Given the description of an element on the screen output the (x, y) to click on. 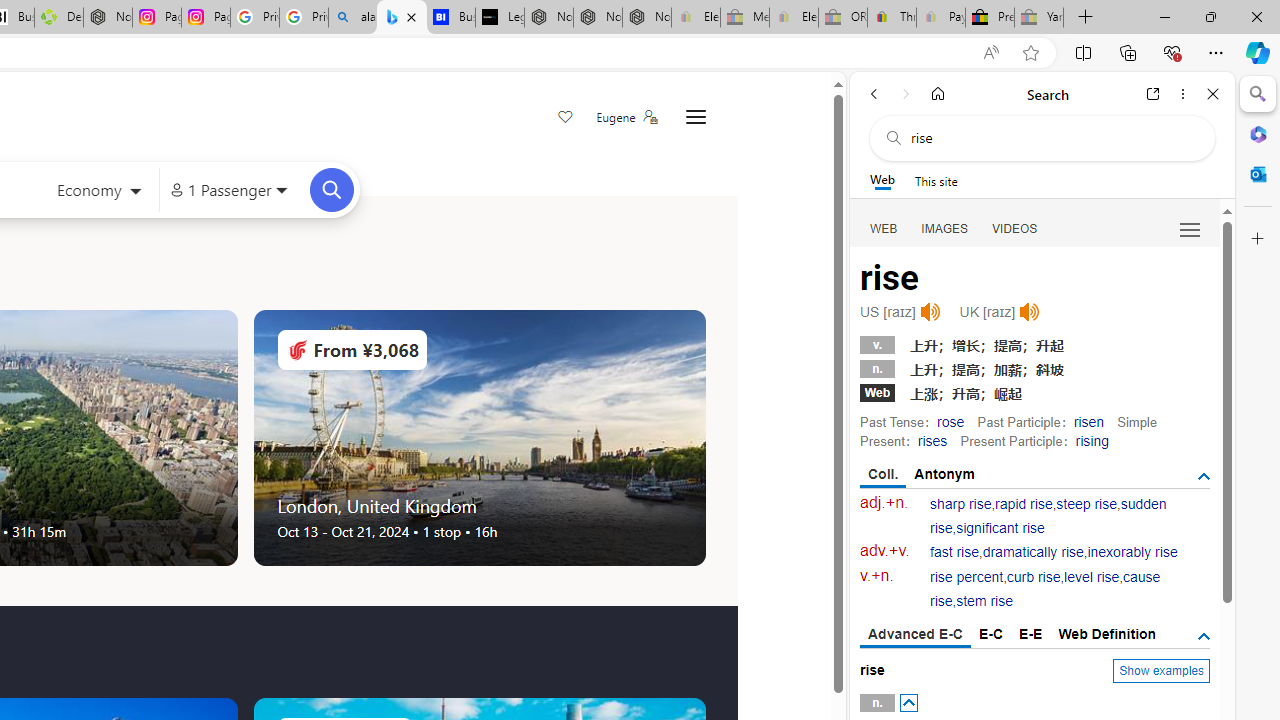
rise percent (966, 577)
fast rise (955, 552)
Advanced E-C (915, 635)
curb rise (1033, 577)
